Given the description of an element on the screen output the (x, y) to click on. 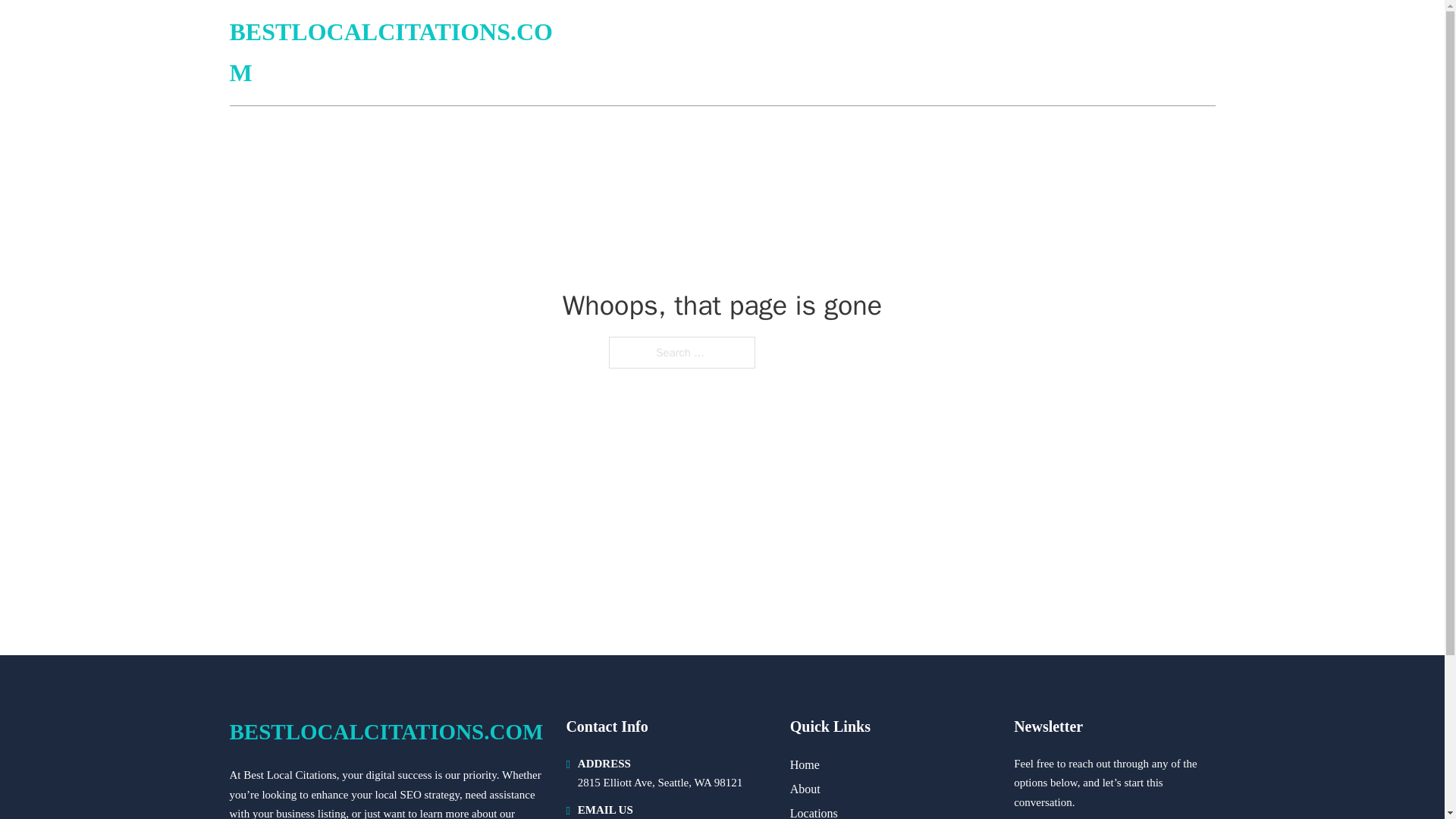
About (805, 788)
LOCATIONS (1105, 53)
BESTLOCALCITATIONS.COM (385, 732)
BESTLOCALCITATIONS.COM (400, 52)
Home (804, 764)
HOME (1032, 53)
Locations (814, 811)
